Given the description of an element on the screen output the (x, y) to click on. 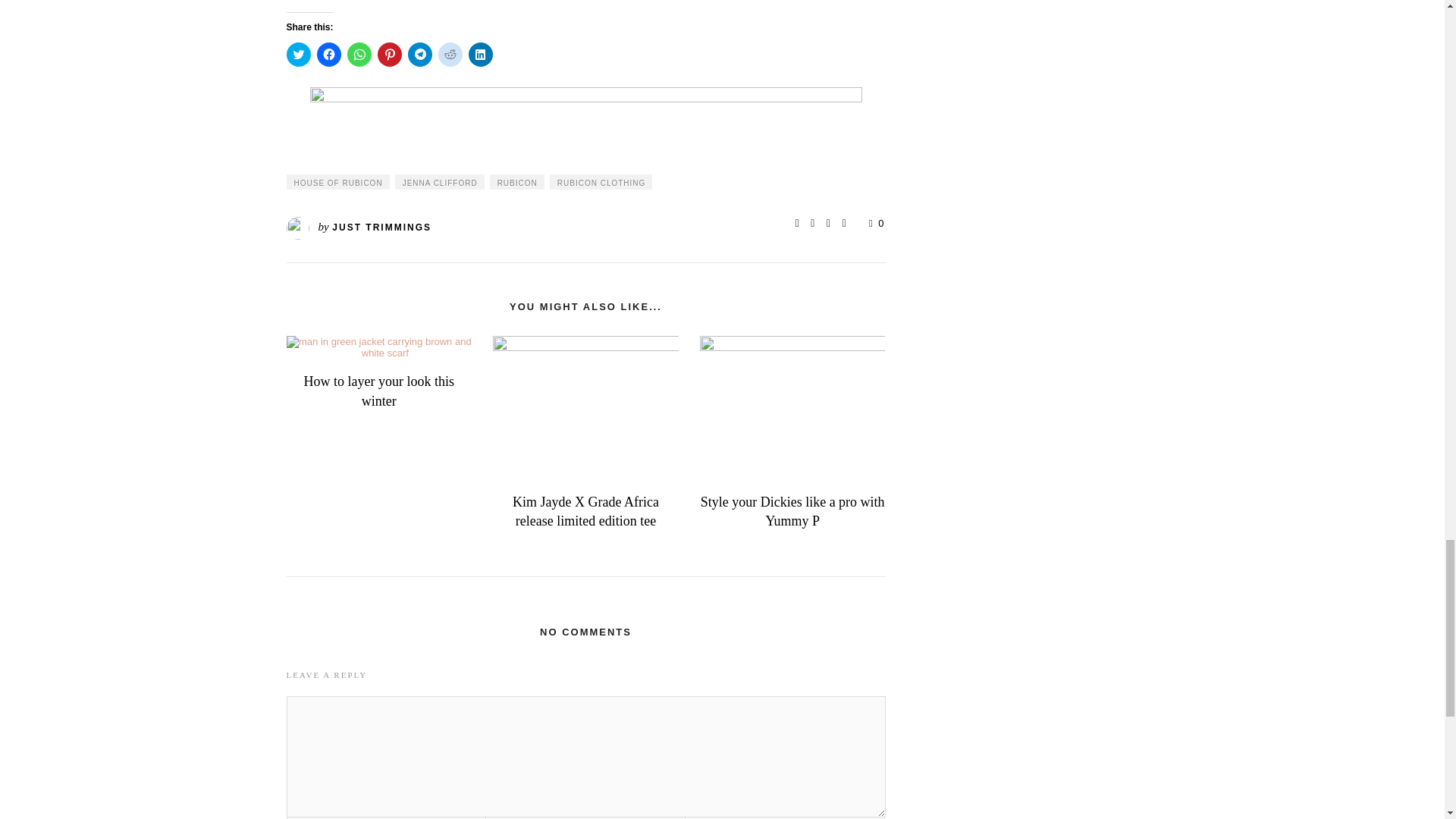
Click to share on LinkedIn (480, 54)
Posts by Just Trimmings (380, 226)
Click to share on Facebook (328, 54)
Click to share on WhatsApp (359, 54)
Click to share on Telegram (419, 54)
Click to share on Pinterest (389, 54)
Click to share on Twitter (298, 54)
Click to share on Reddit (450, 54)
